Given the description of an element on the screen output the (x, y) to click on. 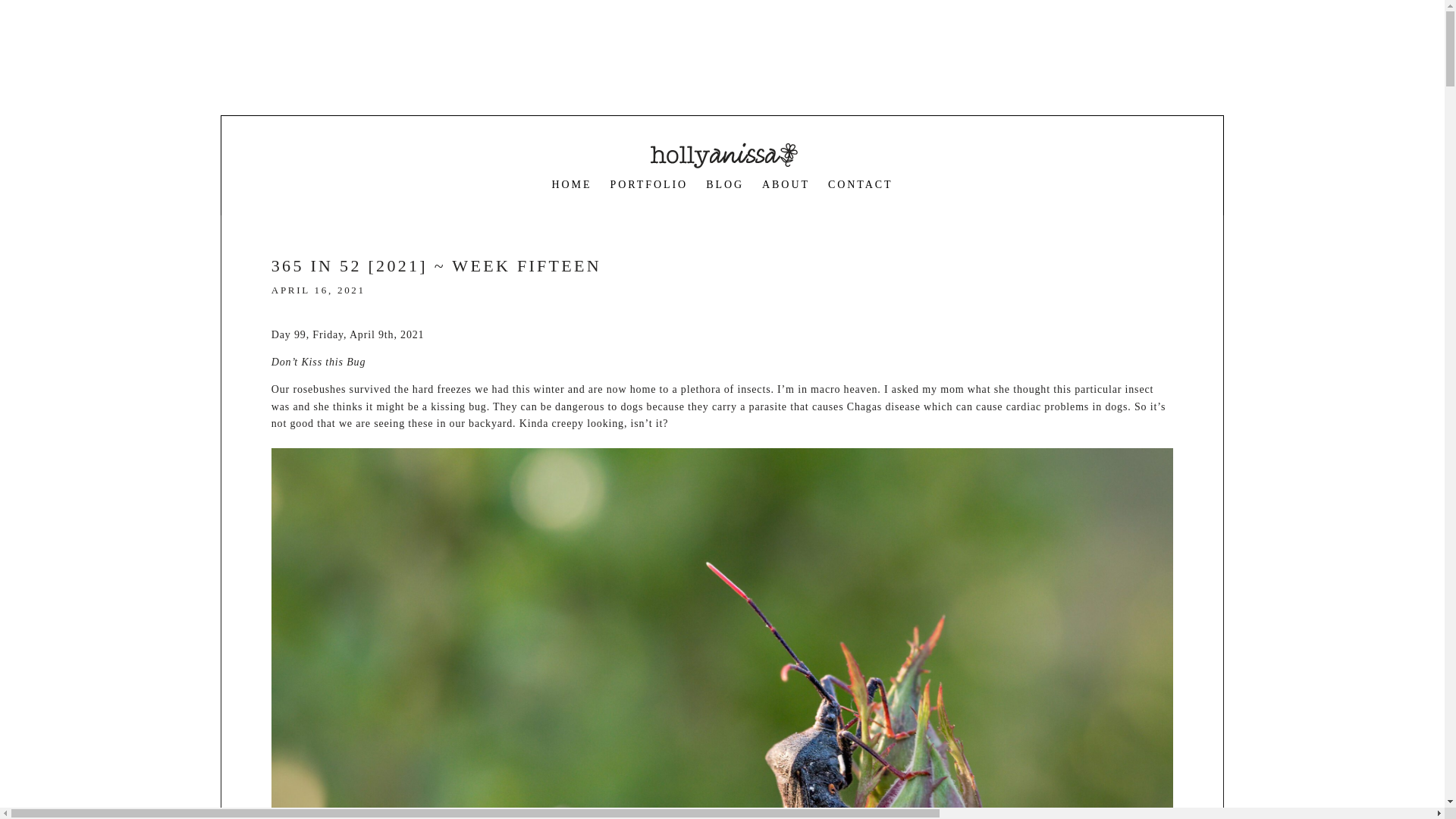
ABOUT (785, 184)
PORTFOLIO (648, 184)
BLOG (725, 184)
HOME (571, 184)
CONTACT (860, 184)
